Given the description of an element on the screen output the (x, y) to click on. 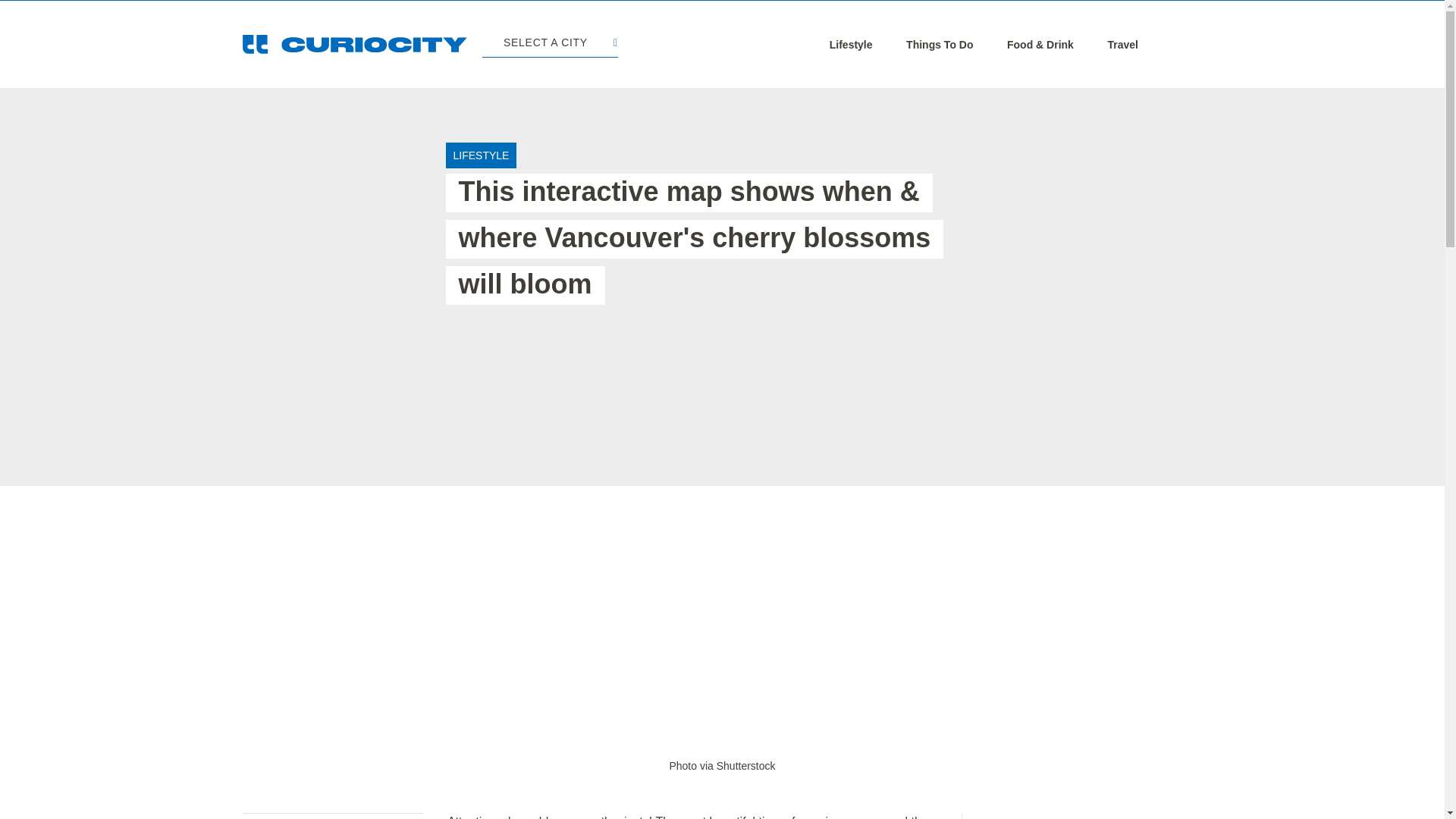
SELECT A CITY (549, 44)
Lifestyle (850, 44)
Things To Do (938, 44)
opens in a new tab (721, 766)
Travel (1121, 44)
goes to Home (355, 43)
curiocity-primary-logo-blue  (355, 44)
